Given the description of an element on the screen output the (x, y) to click on. 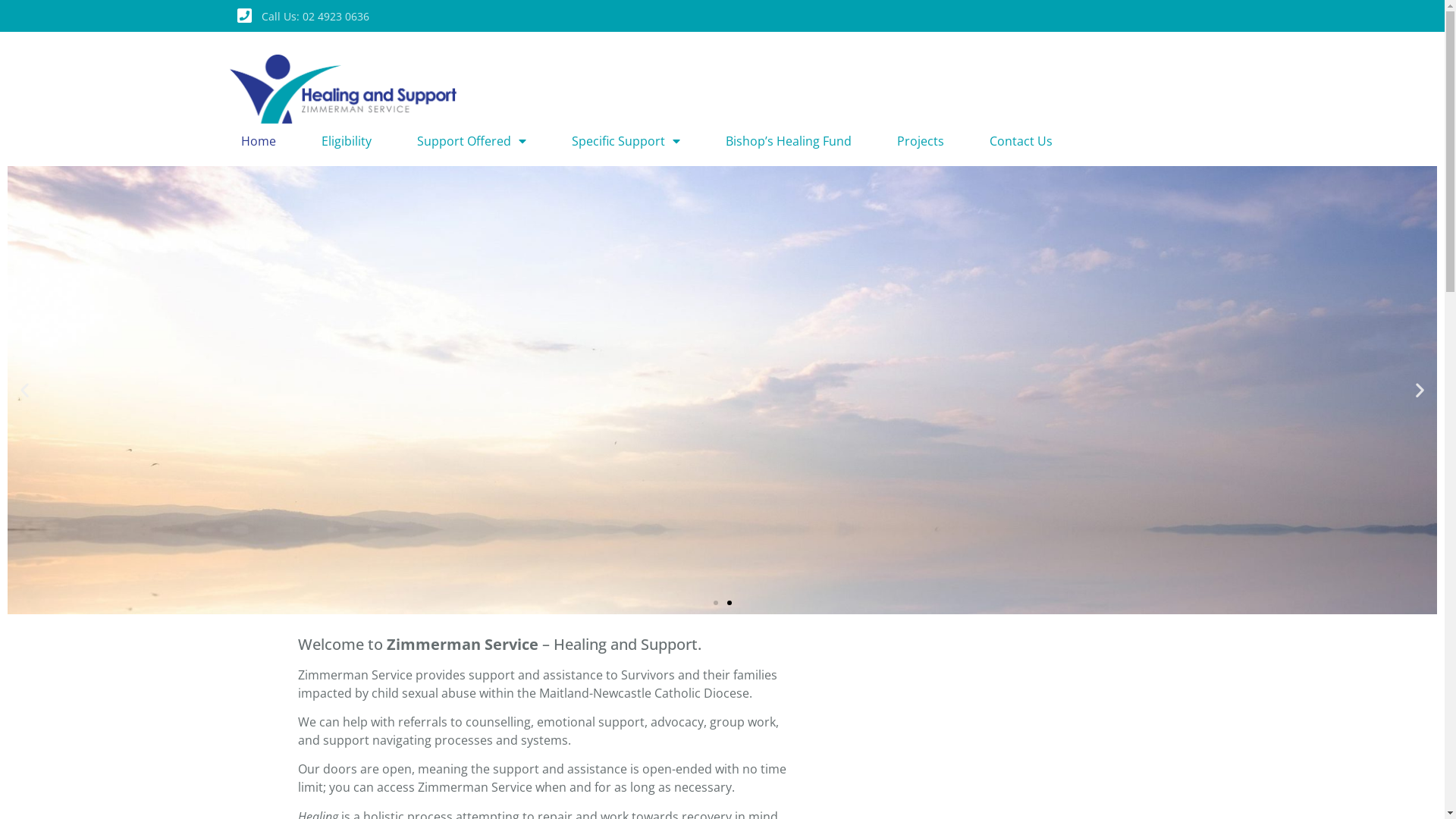
Projects Element type: text (919, 140)
Contact Us Element type: text (1019, 140)
Eligibility Element type: text (346, 140)
Specific Support Element type: text (625, 140)
Support Offered Element type: text (471, 140)
Home Element type: text (258, 140)
